Given the description of an element on the screen output the (x, y) to click on. 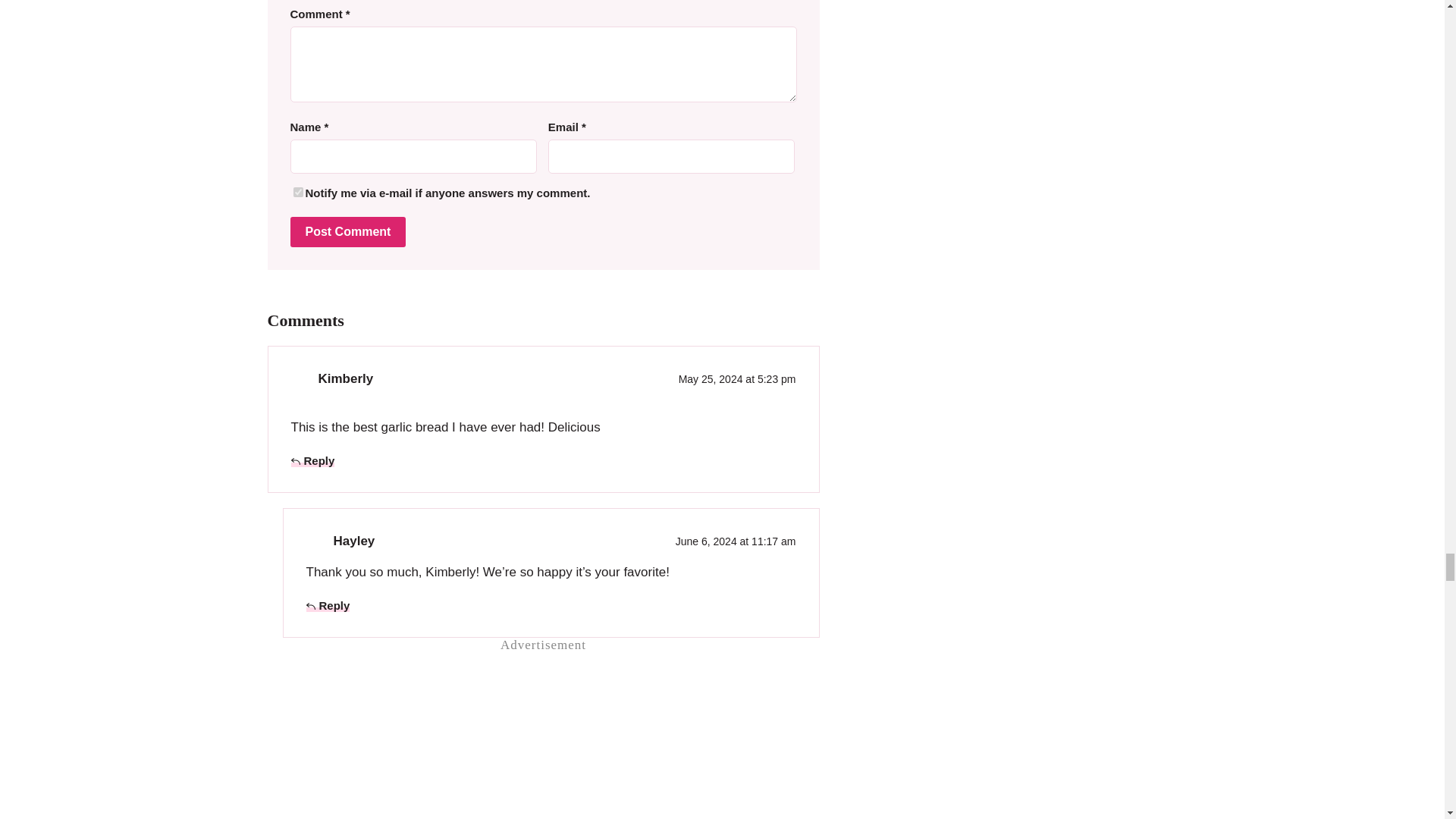
on (297, 192)
Post Comment (347, 232)
